Given the description of an element on the screen output the (x, y) to click on. 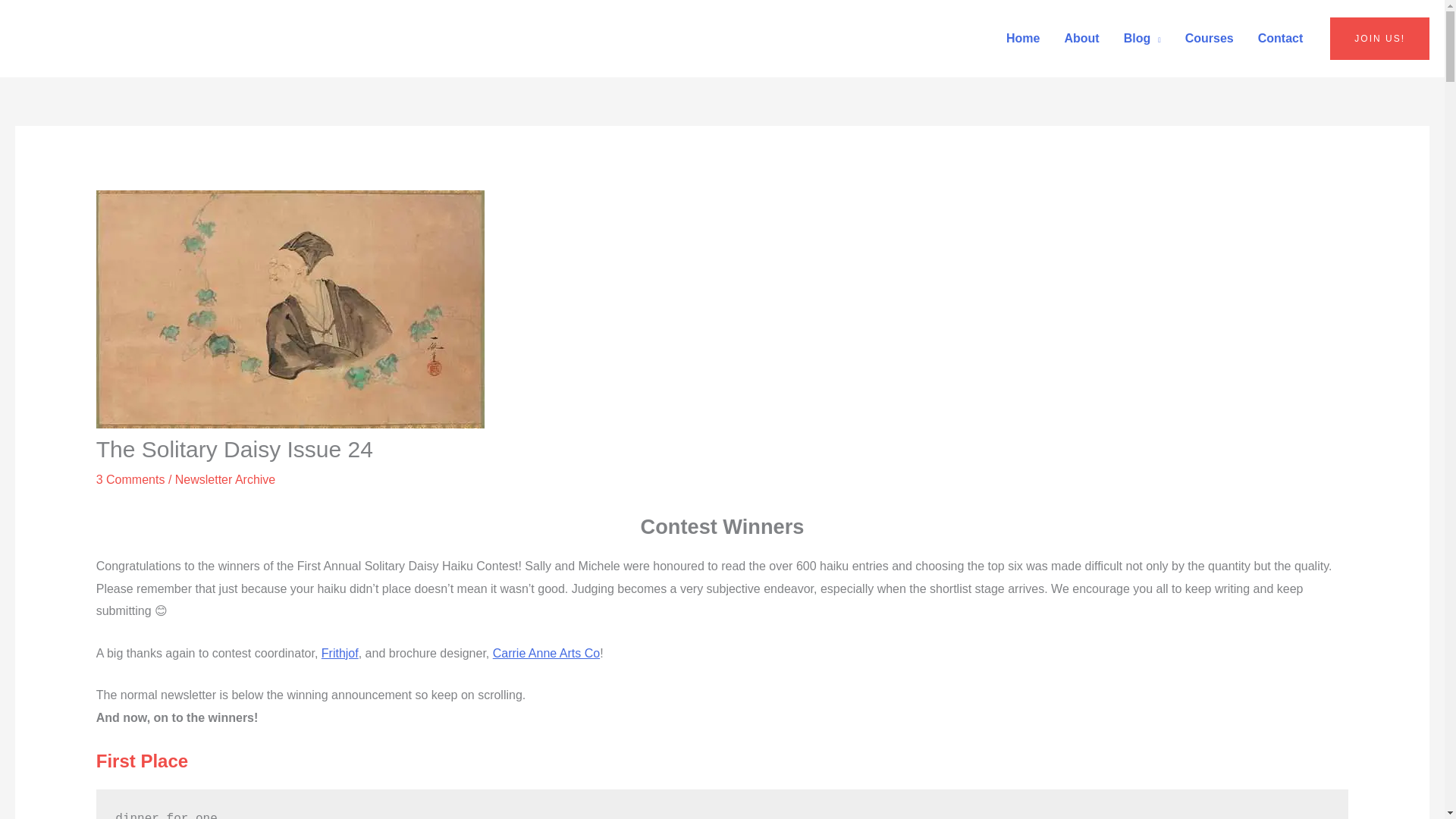
Blog (1142, 38)
Carrie Anne Arts Co (546, 653)
JOIN US! (1379, 38)
Courses (1209, 38)
Home (1022, 38)
Newsletter Archive (225, 479)
3 Comments (130, 479)
Contact (1281, 38)
Frithjof (339, 653)
About (1080, 38)
